Given the description of an element on the screen output the (x, y) to click on. 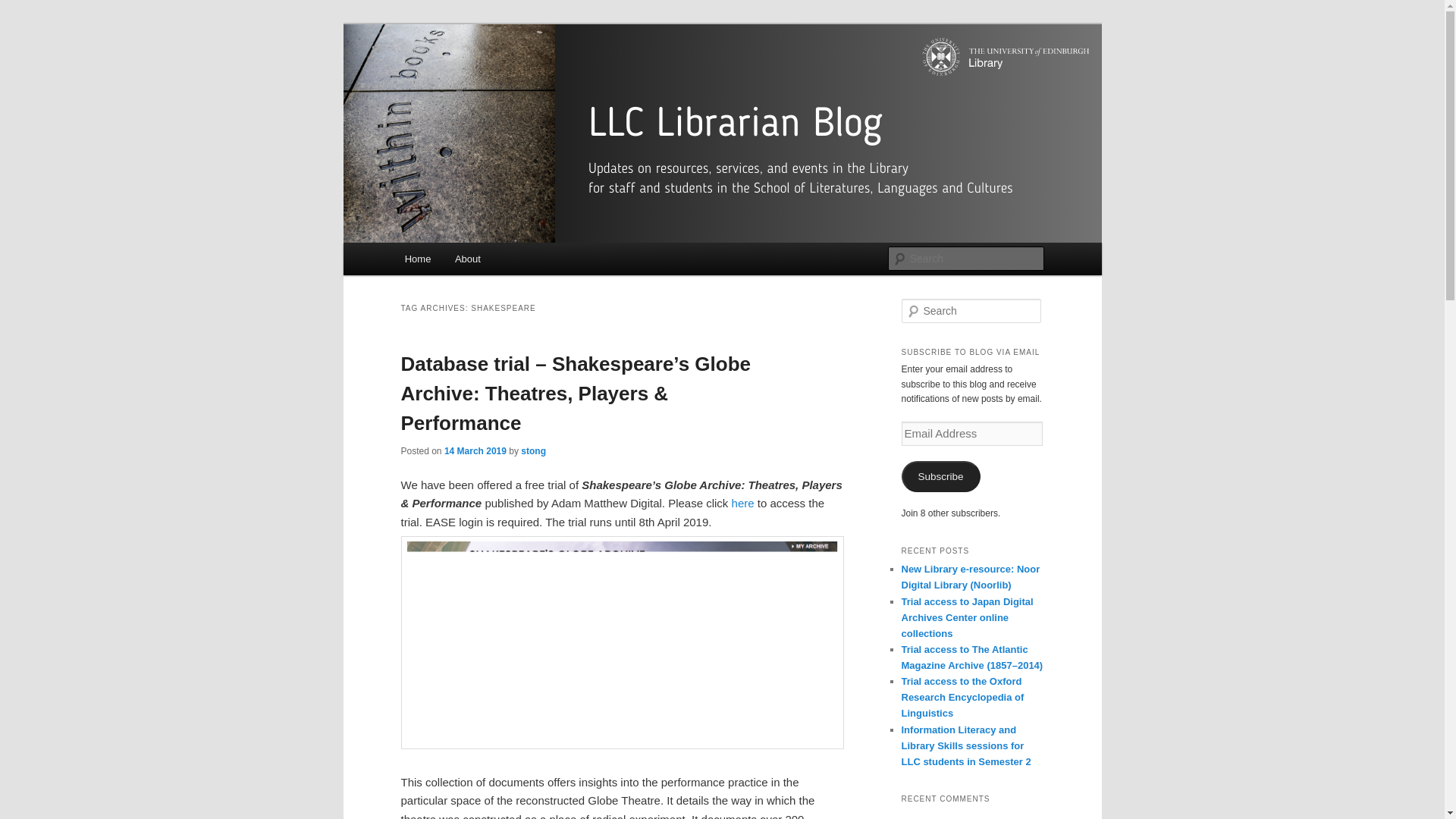
About (467, 258)
Search (21, 11)
Home (417, 258)
here (743, 502)
LLC Librarian (474, 78)
14 March 2019 (475, 450)
stong (533, 450)
